Given the description of an element on the screen output the (x, y) to click on. 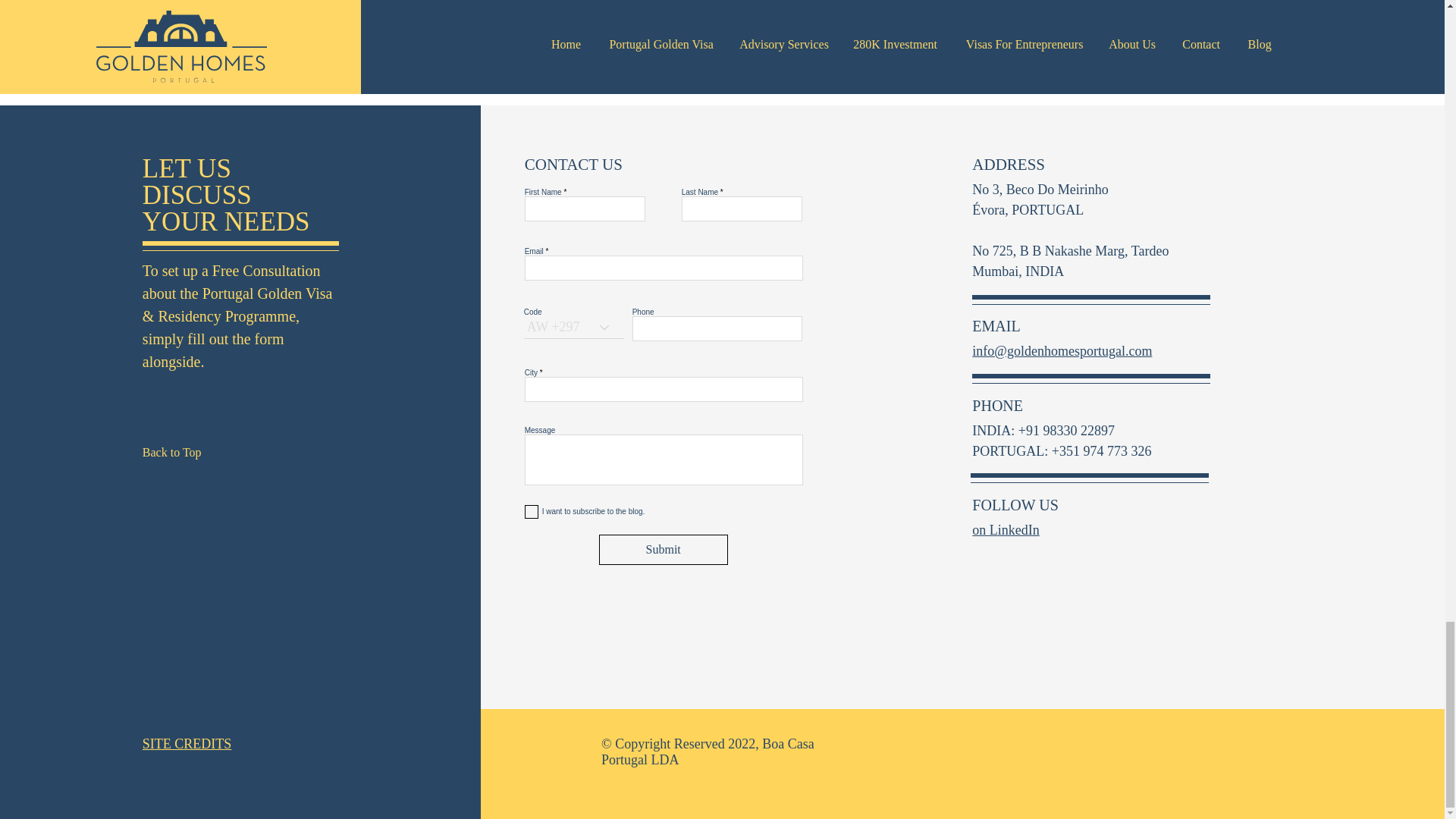
0 (445, 49)
Post not marked as liked (558, 48)
Timing your Portugal Golden Visa Application (476, 6)
0 (937, 49)
Post not marked as liked (804, 48)
Submit (663, 549)
Back to Top (196, 452)
0 (691, 49)
on LinkedIn (1046, 49)
